Given the description of an element on the screen output the (x, y) to click on. 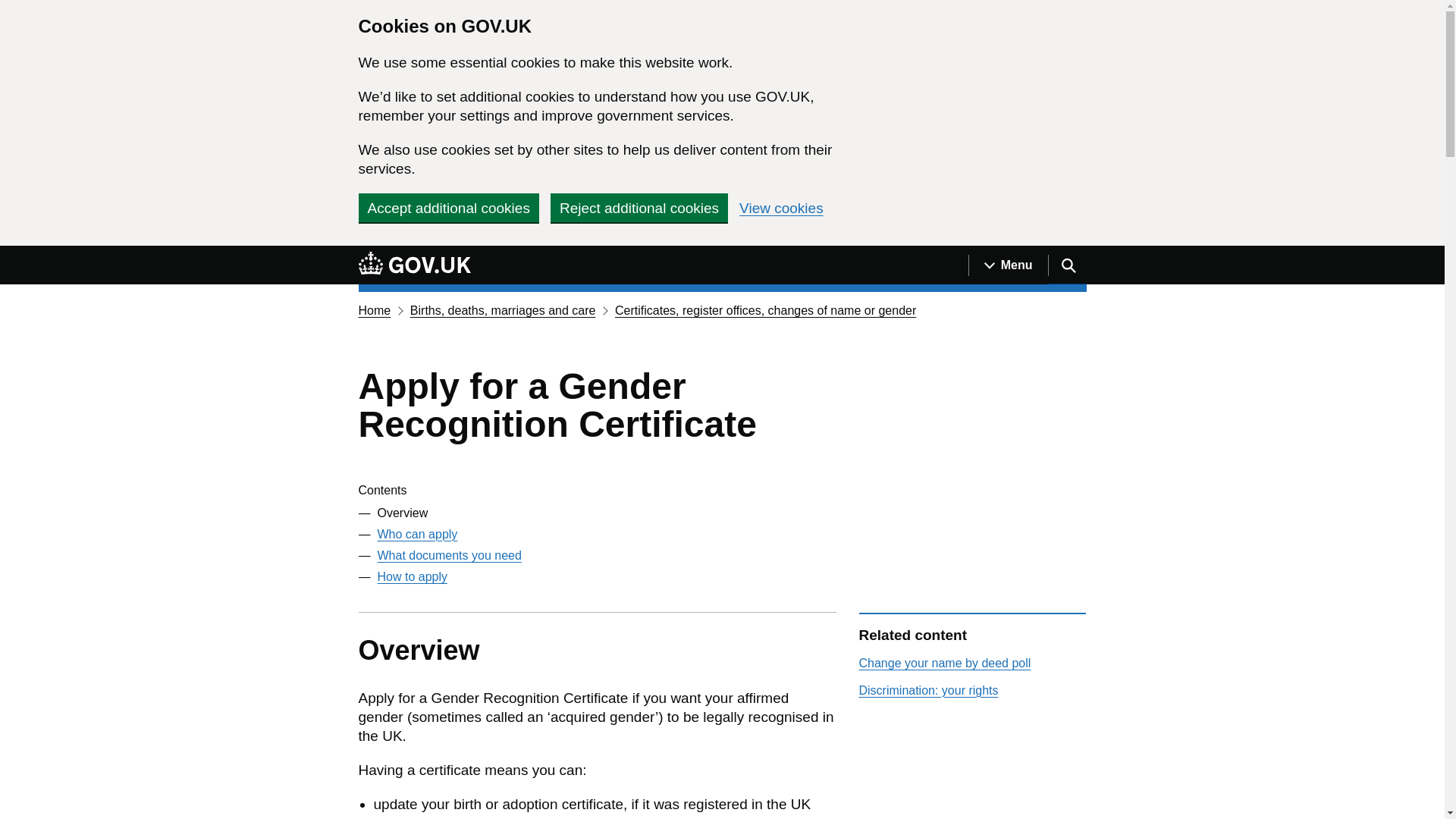
GOV.UK (414, 262)
How to apply (412, 576)
Accept additional cookies (448, 207)
Home (374, 309)
Reject additional cookies (639, 207)
Skip to main content (11, 254)
What documents you need (449, 554)
Menu (1008, 265)
Change your name by deed poll (944, 662)
Certificates, register offices, changes of name or gender (764, 309)
View cookies (781, 207)
Who can apply (417, 533)
Births, deaths, marriages and care (502, 309)
Search GOV.UK (1067, 265)
Discrimination: your rights (928, 689)
